Given the description of an element on the screen output the (x, y) to click on. 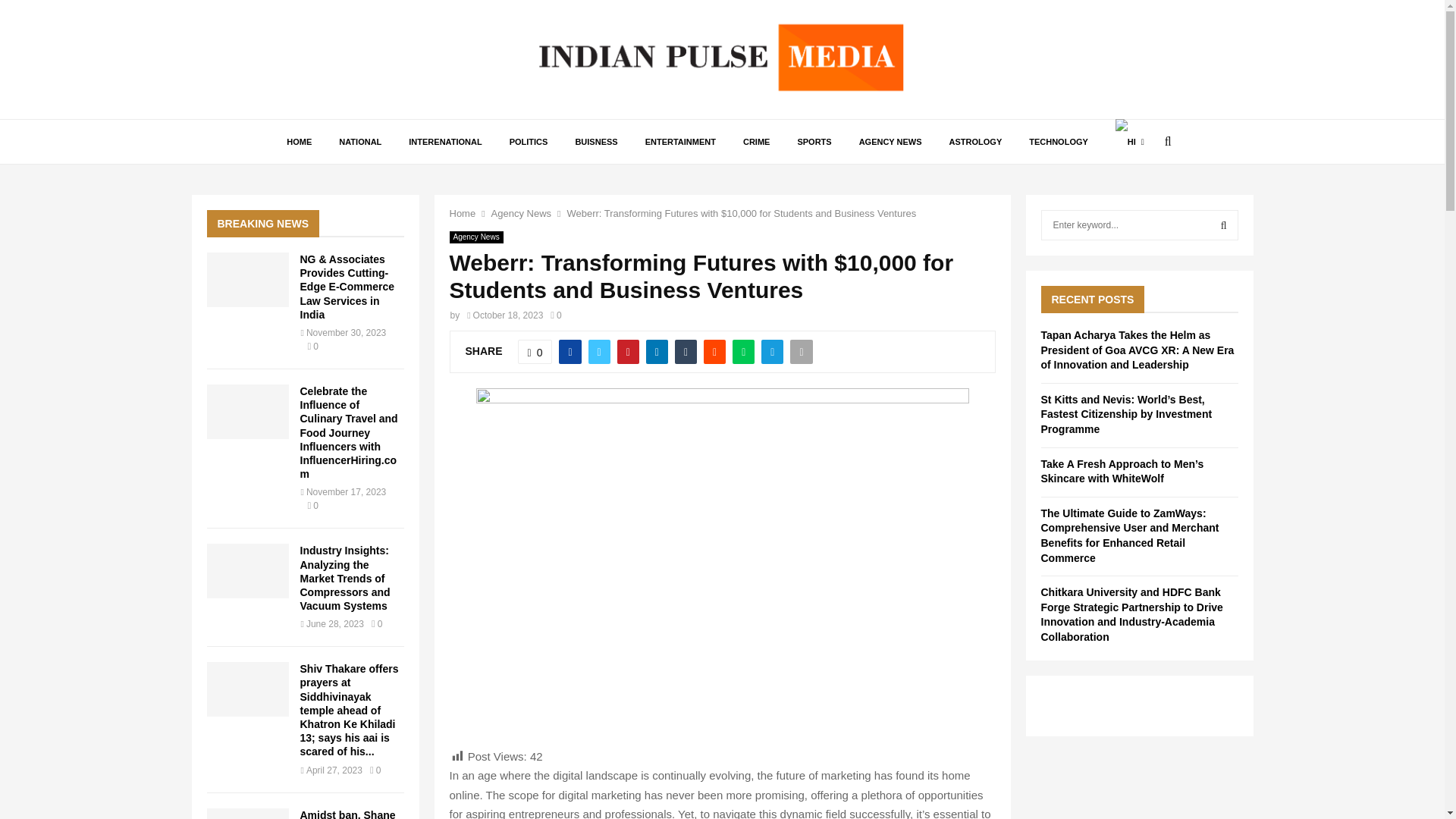
SPORTS (813, 141)
INTERENATIONAL (444, 141)
0 (535, 351)
ASTROLOGY (976, 141)
BUISNESS (595, 141)
NATIONAL (359, 141)
Agency News (521, 213)
HOME (298, 141)
TECHNOLOGY (1058, 141)
POLITICS (529, 141)
